Given the description of an element on the screen output the (x, y) to click on. 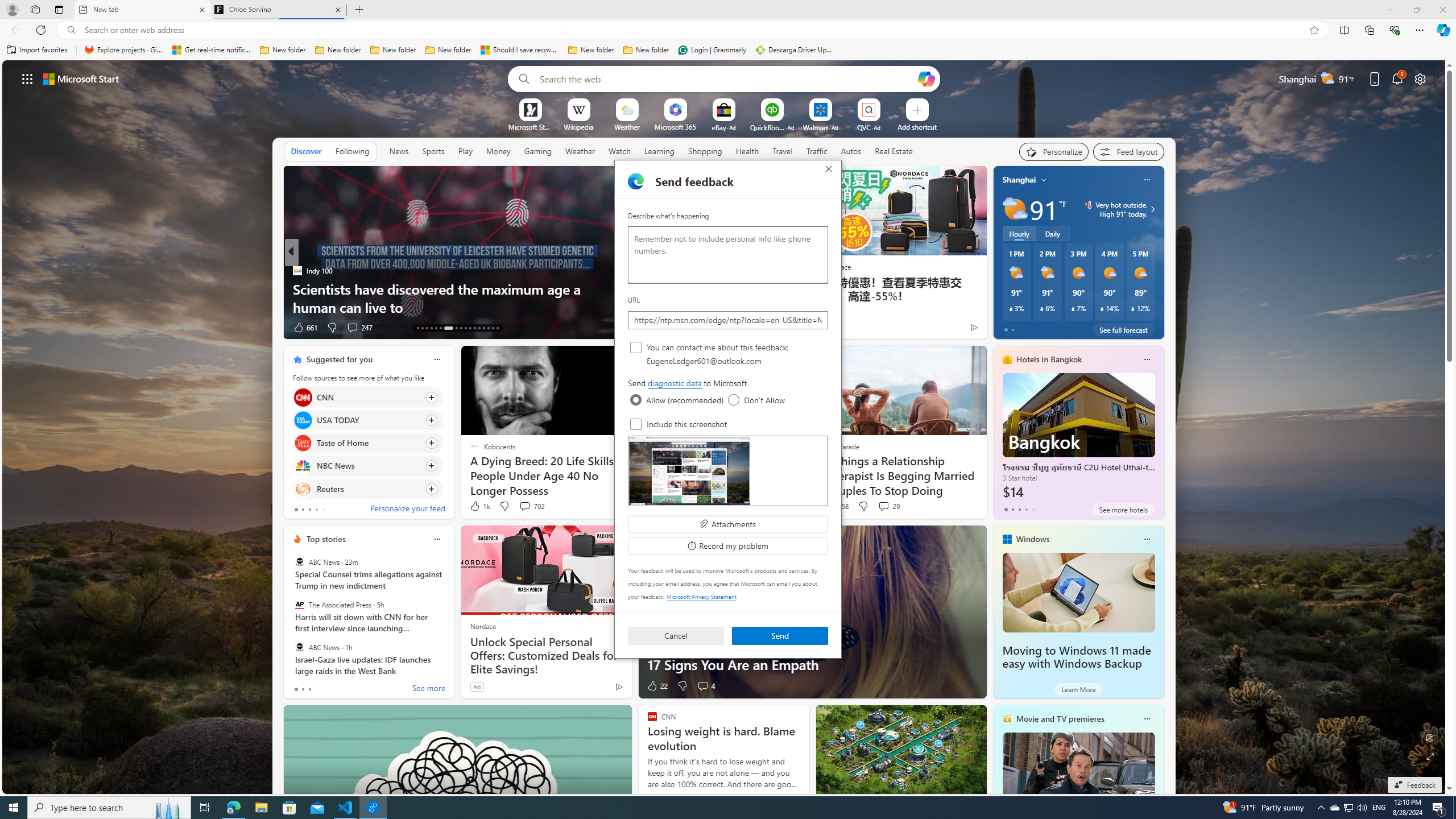
Edit Background (1430, 737)
The Associated Press (299, 604)
Class: weather-current-precipitation-glyph (1133, 308)
Top stories (325, 538)
Movie and TV premieres (1060, 718)
Shanghai (1018, 179)
AutomationID: tab-20 (456, 328)
AutomationID: tab-40 (488, 328)
Tray Input Indicator - English (United States) (1378, 807)
Login | Grammarly (712, 49)
Chloe Sorvino (277, 9)
Microsoft Store (289, 807)
